Given the description of an element on the screen output the (x, y) to click on. 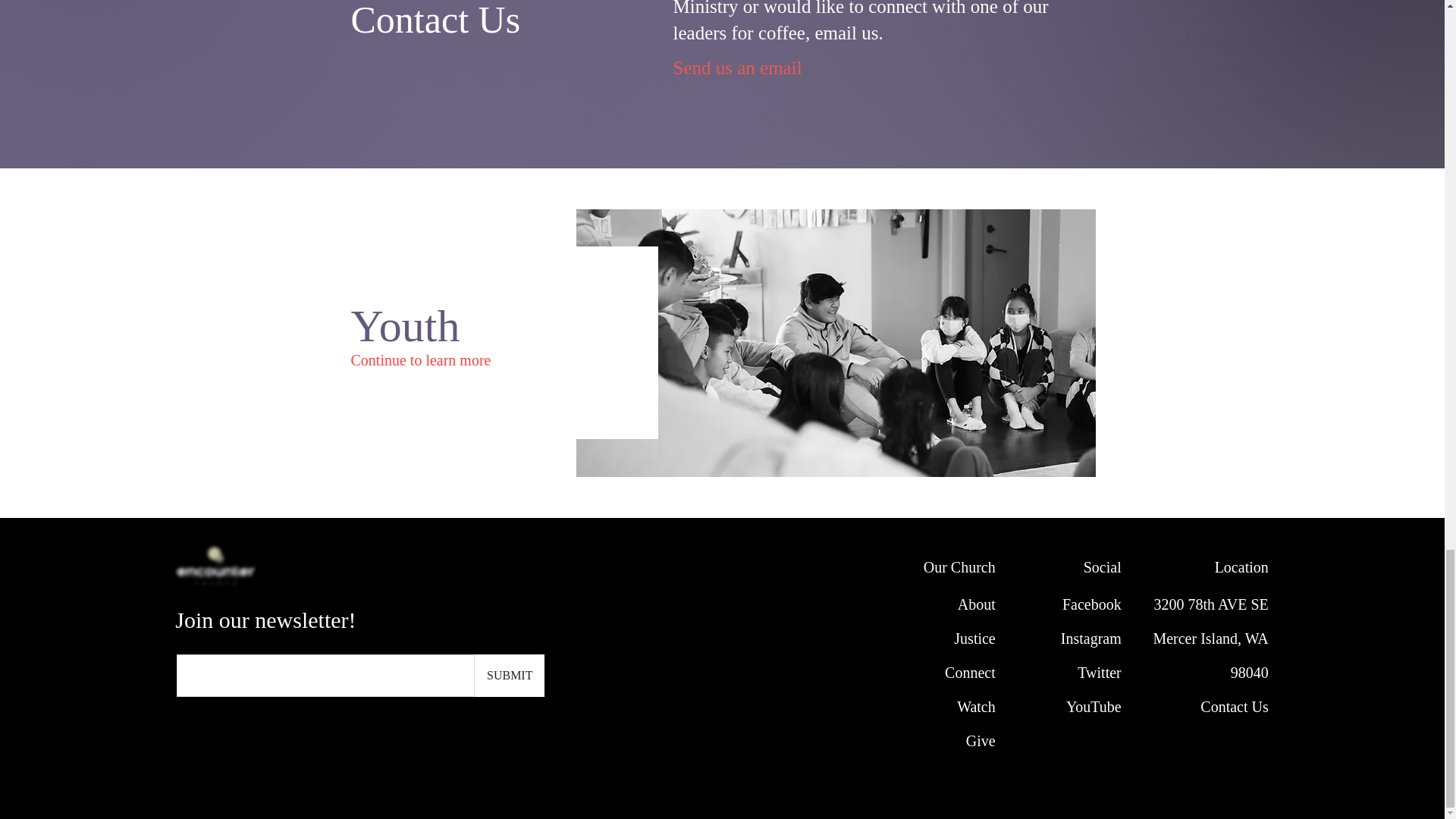
Send us an email  (739, 67)
Connect (969, 672)
Facebook (1210, 638)
Continue to learn more (1091, 604)
Watch (420, 355)
Give (975, 706)
Justice (980, 740)
About (973, 638)
Instagram (976, 604)
